Given the description of an element on the screen output the (x, y) to click on. 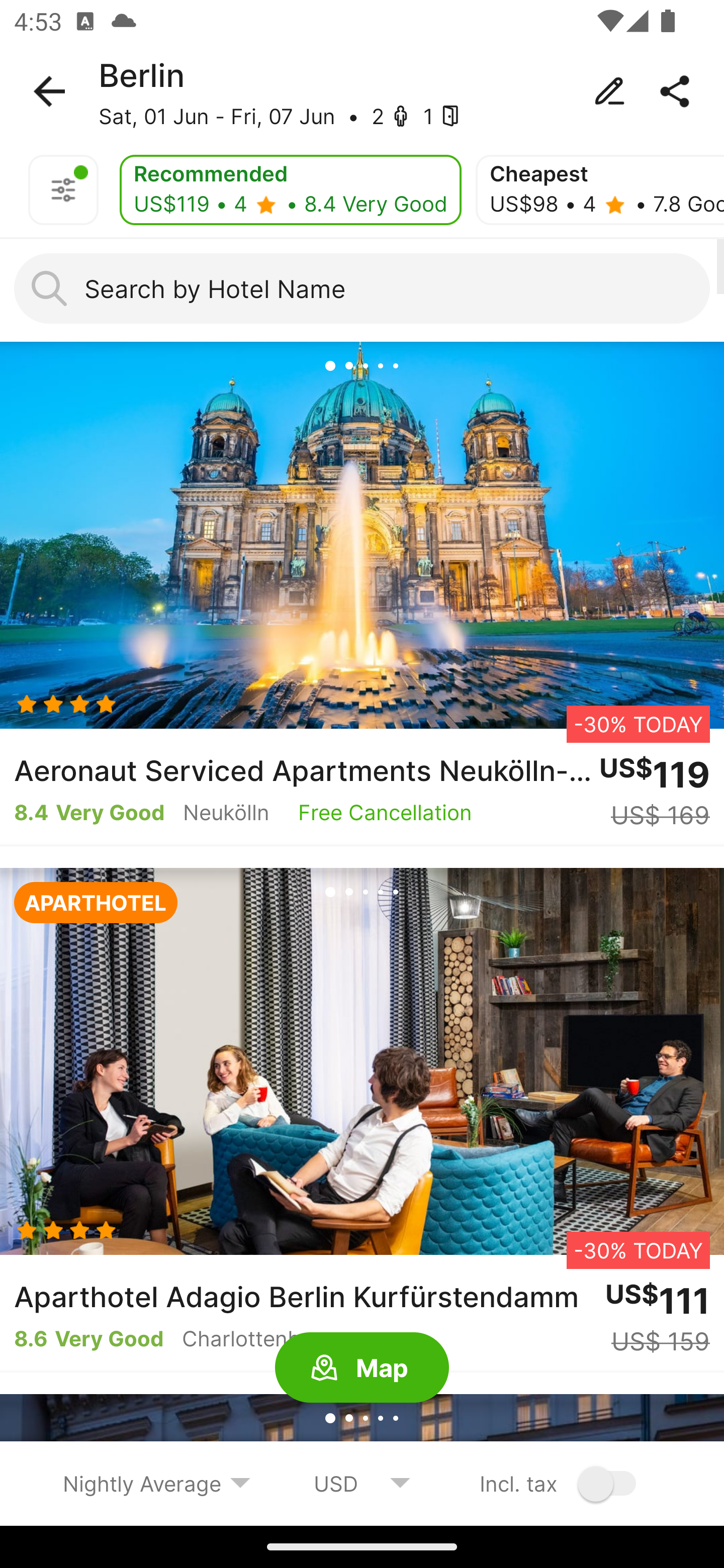
Berlin Sat, 01 Jun - Fri, 07 Jun  •  2 -  1 - (361, 91)
Recommended  US$119  • 4 - • 8.4 Very Good (290, 190)
Cheapest US$98  • 4 - • 7.8 Good (599, 190)
Search by Hotel Name  (361, 288)
Map  (361, 1367)
Nightly Average (156, 1482)
USD (361, 1482)
